Given the description of an element on the screen output the (x, y) to click on. 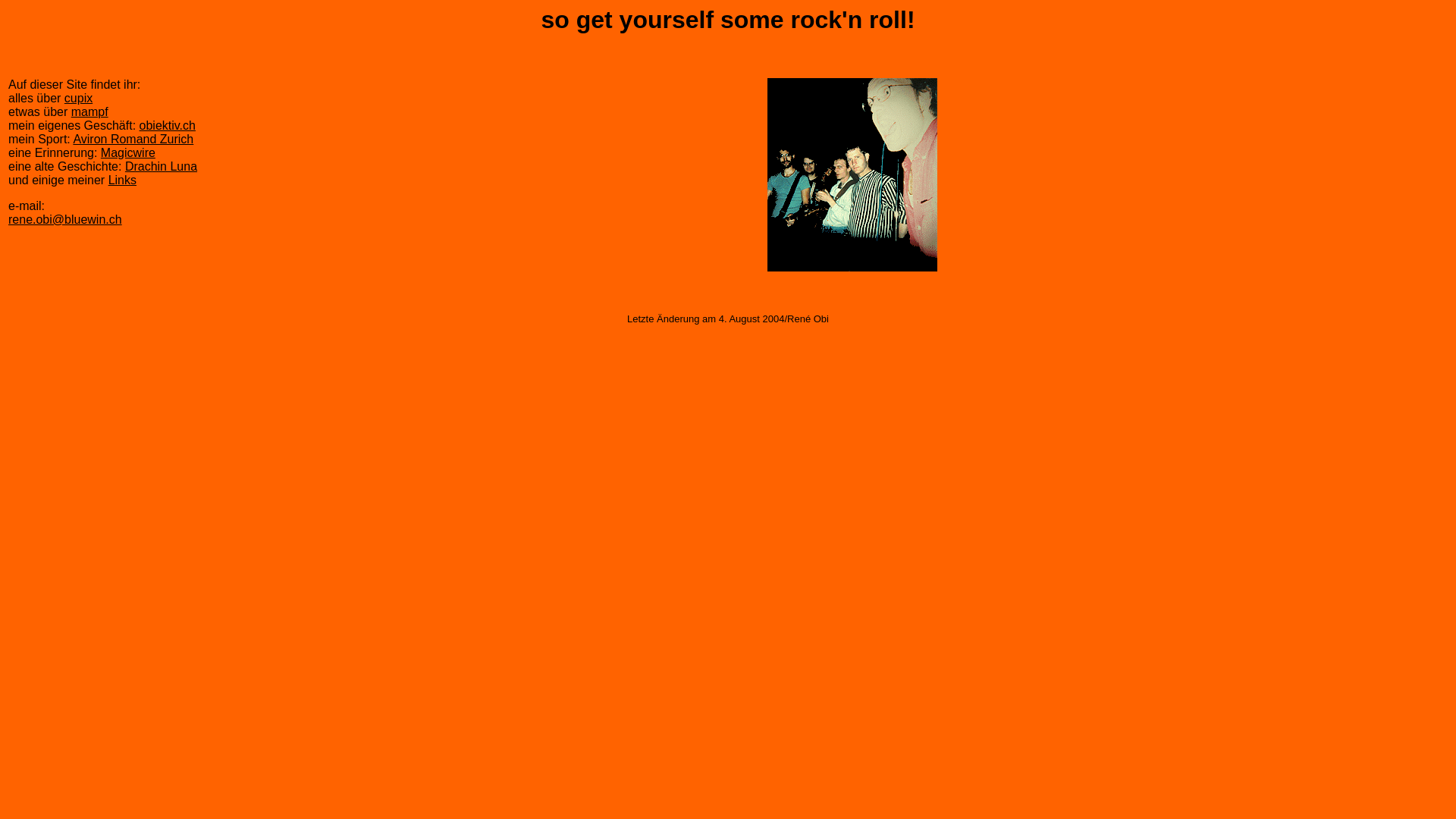
obiektiv.ch Element type: text (167, 125)
Drachin Luna Element type: text (161, 166)
mampf Element type: text (89, 111)
cupix Element type: text (78, 97)
Aviron Romand Zurich Element type: text (132, 138)
rene.obi@bluewin.ch Element type: text (65, 219)
Links Element type: text (122, 179)
Magicwire Element type: text (127, 152)
